Given the description of an element on the screen output the (x, y) to click on. 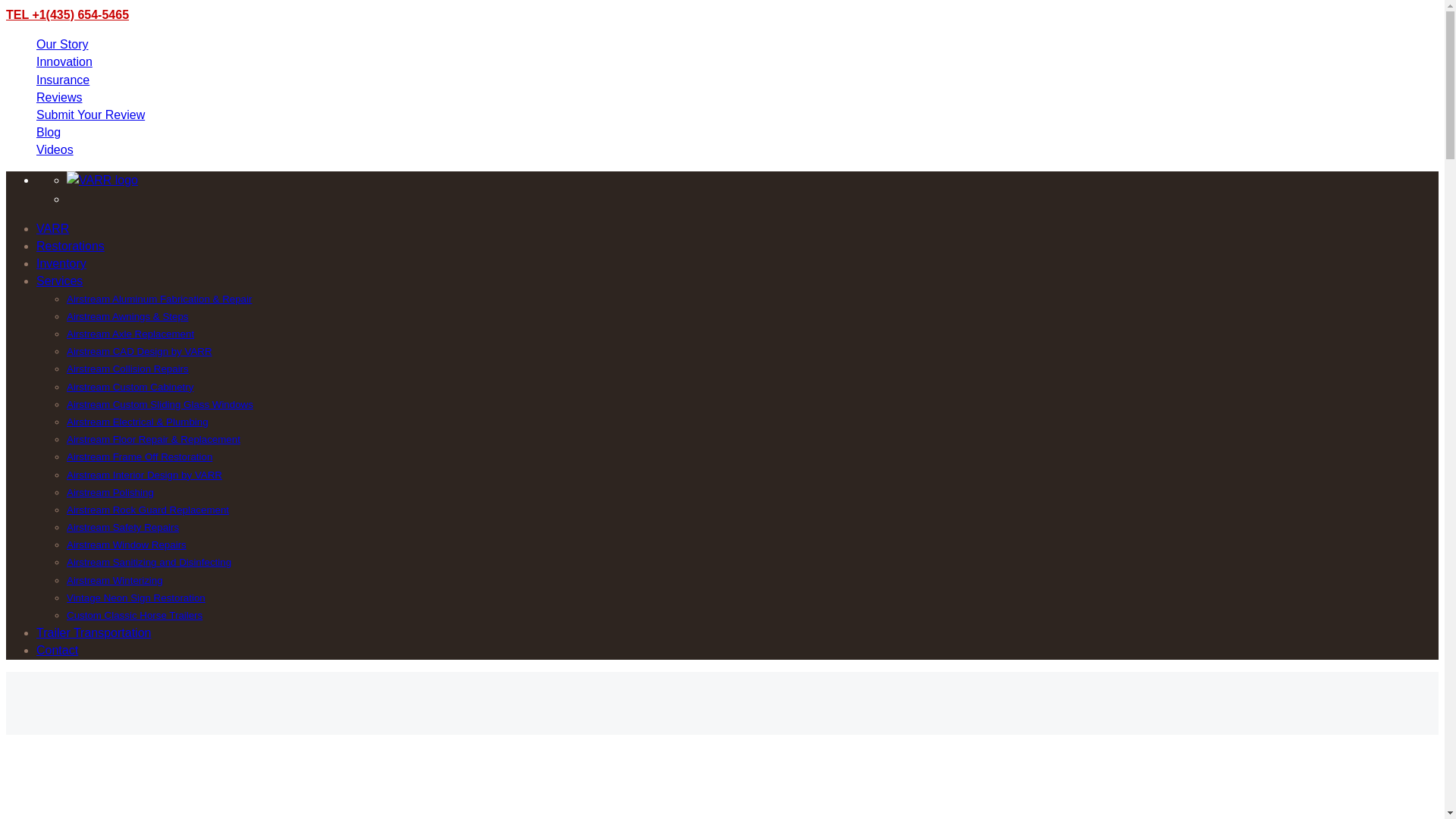
Airstream Axle Replacement (129, 333)
VARR (52, 228)
Airstream Custom Cabinetry (129, 387)
Blog (48, 132)
Innovation (64, 61)
Airstream Collision Repairs (127, 368)
Airstream Safety Repairs (122, 527)
Videos (55, 149)
Airstream Custom Sliding Glass Windows (159, 404)
Airstream Sanitizing and Disinfecting (148, 562)
